Given the description of an element on the screen output the (x, y) to click on. 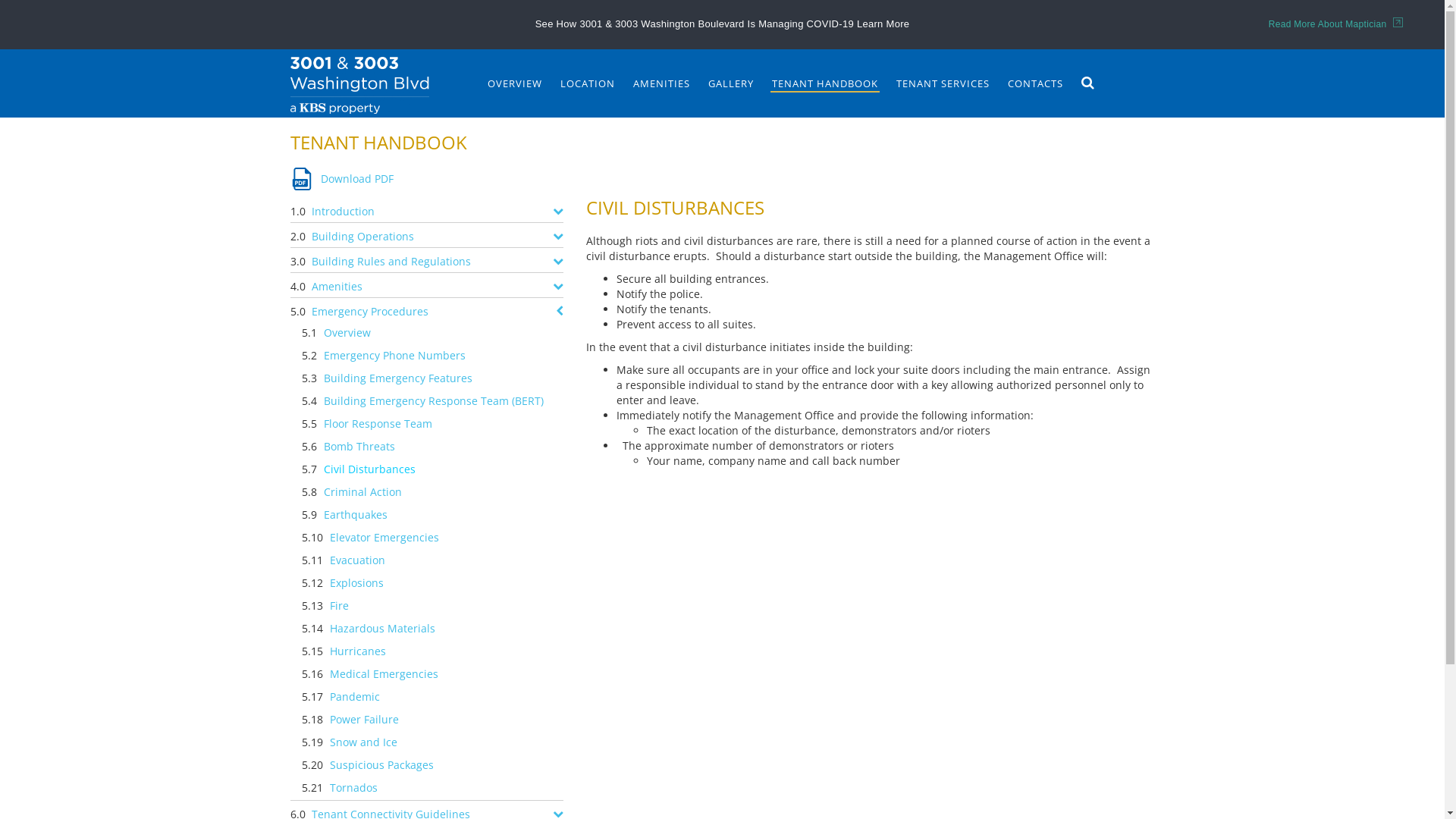
Hazardous Materials Element type: text (386, 629)
Earthquakes Element type: text (359, 515)
Building Emergency Features Element type: text (401, 378)
Introduction Element type: text (346, 209)
Hurricanes Element type: text (361, 651)
Amenities Element type: text (340, 285)
Medical Emergencies Element type: text (387, 674)
Emergency Procedures Element type: text (373, 310)
TENANT SERVICES Element type: text (942, 83)
Suspicious Packages Element type: text (385, 765)
AMENITIES Element type: text (660, 83)
Download PDF Element type: text (340, 178)
Criminal Action Element type: text (366, 492)
Overview Element type: text (351, 333)
Pandemic Element type: text (358, 697)
Read More About Maptician Element type: text (1335, 24)
Learn More Element type: text (882, 23)
TENANT HANDBOOK Element type: text (824, 83)
Fire Element type: text (343, 606)
Bomb Threats Element type: text (363, 447)
Building Operations Element type: text (365, 234)
Floor Response Team Element type: text (381, 424)
CONTACTS Element type: text (1034, 83)
LOCATION Element type: text (586, 83)
Emergency Phone Numbers Element type: text (398, 356)
Evacuation Element type: text (361, 560)
Power Failure Element type: text (368, 720)
OVERVIEW Element type: text (513, 83)
Snow and Ice Element type: text (367, 742)
Civil Disturbances Element type: text (373, 469)
Explosions Element type: text (360, 583)
Building Emergency Response Team (BERT) Element type: text (437, 401)
Tornados Element type: text (357, 788)
Building Rules and Regulations Element type: text (394, 259)
Elevator Emergencies Element type: text (388, 538)
GALLERY Element type: text (730, 83)
